Given the description of an element on the screen output the (x, y) to click on. 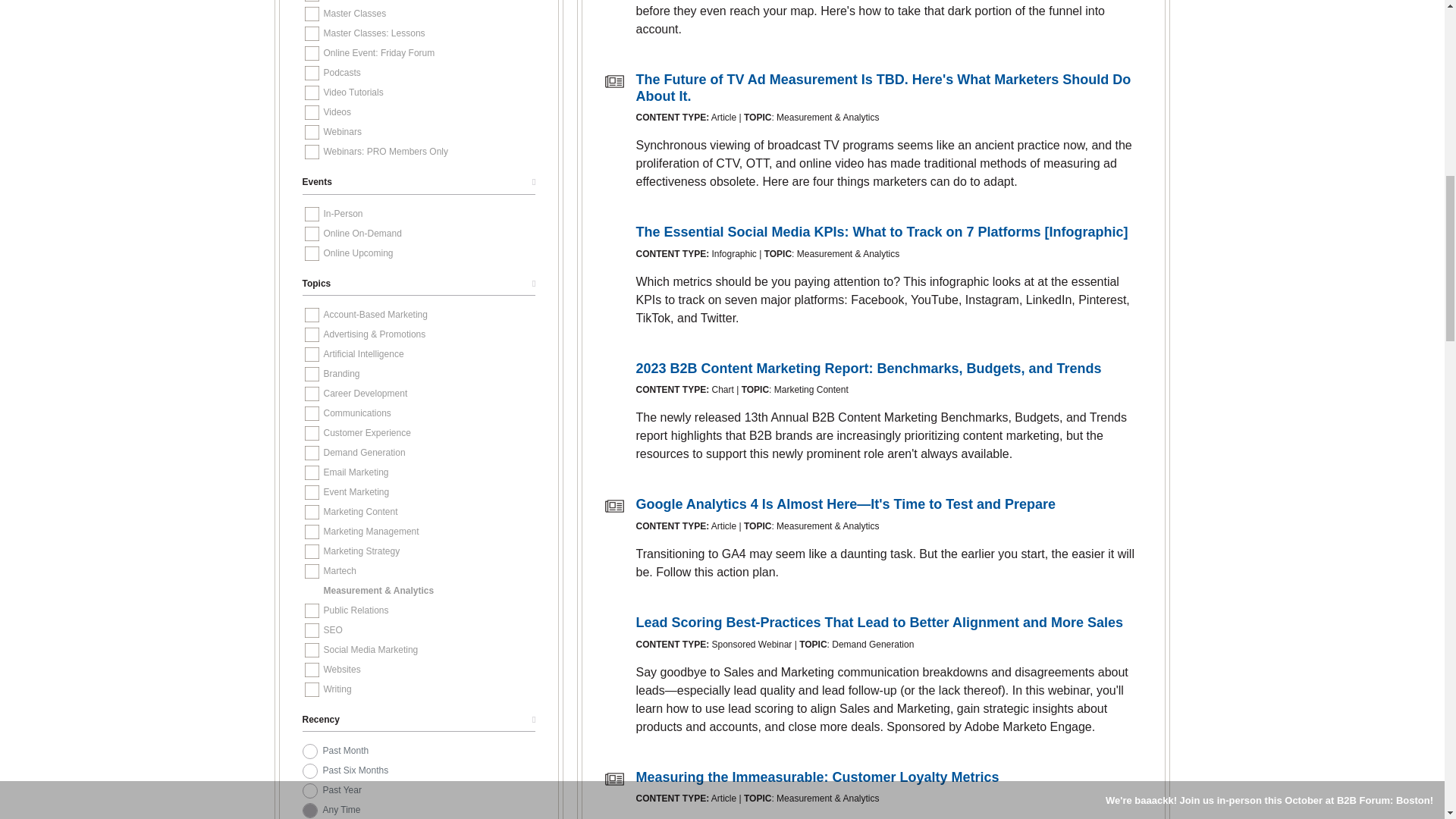
30 (309, 751)
0 (309, 810)
365 (309, 790)
180 (309, 770)
